Given the description of an element on the screen output the (x, y) to click on. 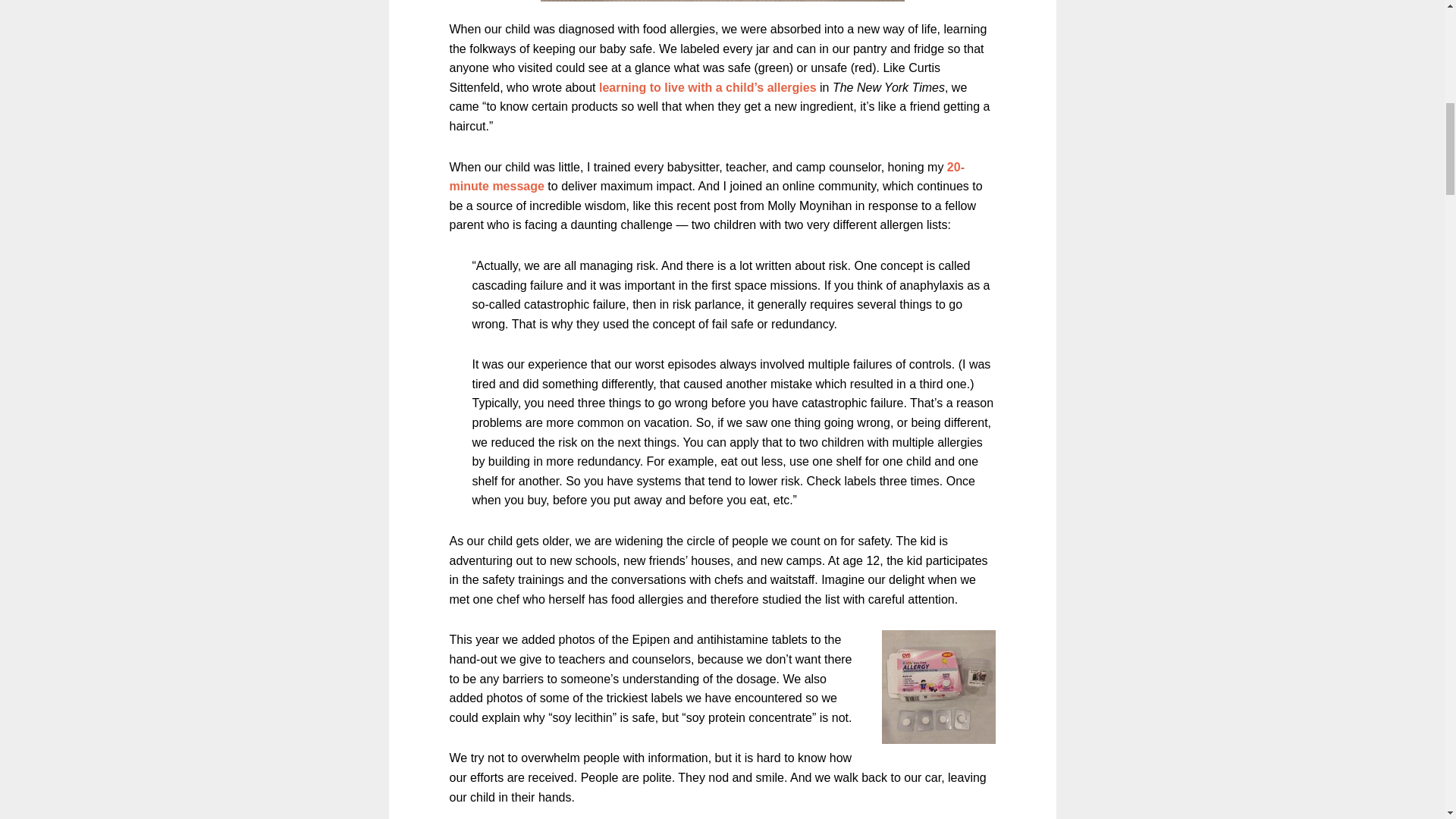
20-minute message (705, 176)
